Given the description of an element on the screen output the (x, y) to click on. 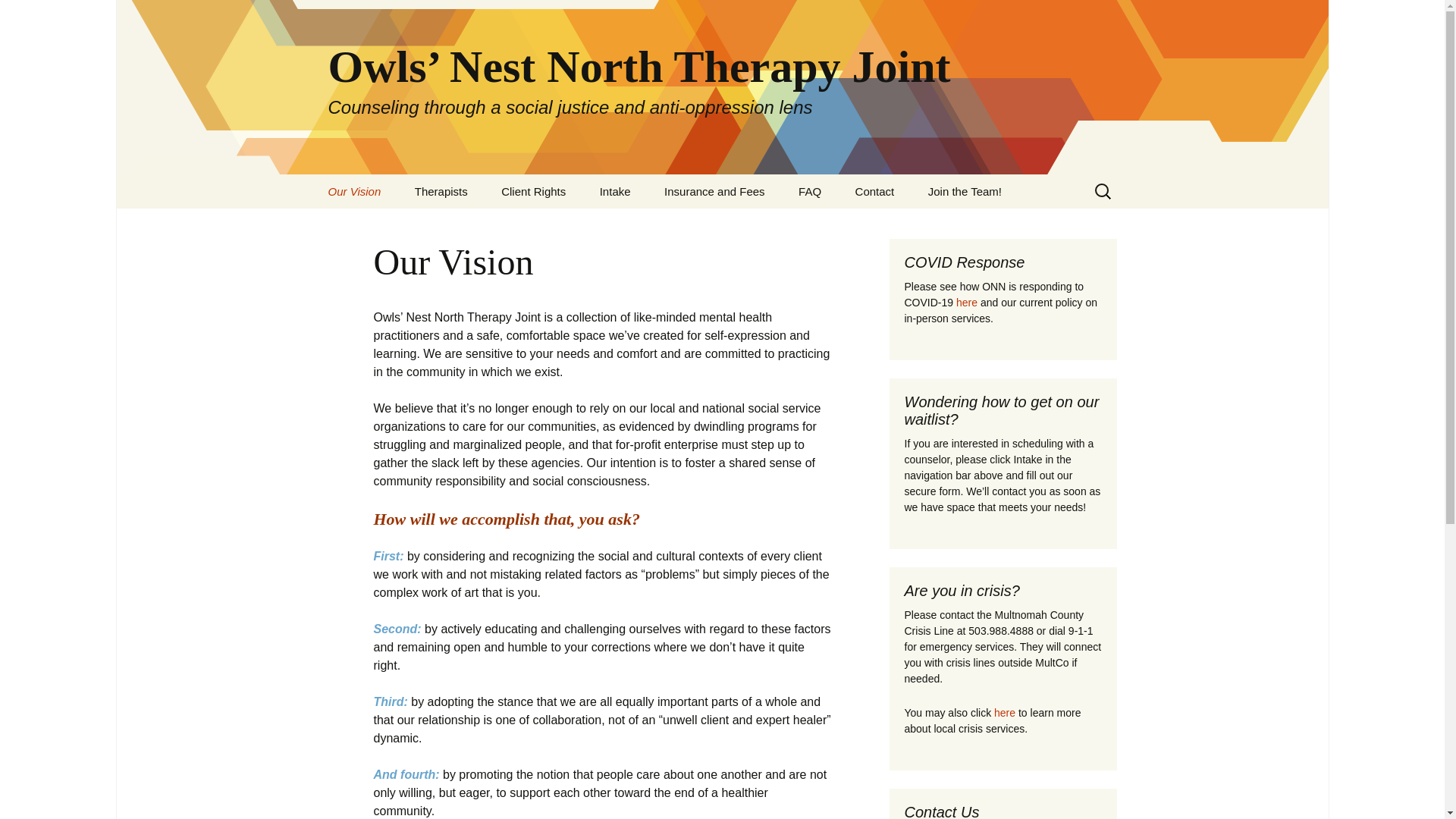
Contact (875, 191)
Therapists (440, 191)
FAQ (809, 191)
Our Vision (354, 191)
Client Rights (533, 191)
Join the Team! (964, 191)
here (1004, 712)
Search (18, 15)
here (966, 302)
